Given the description of an element on the screen output the (x, y) to click on. 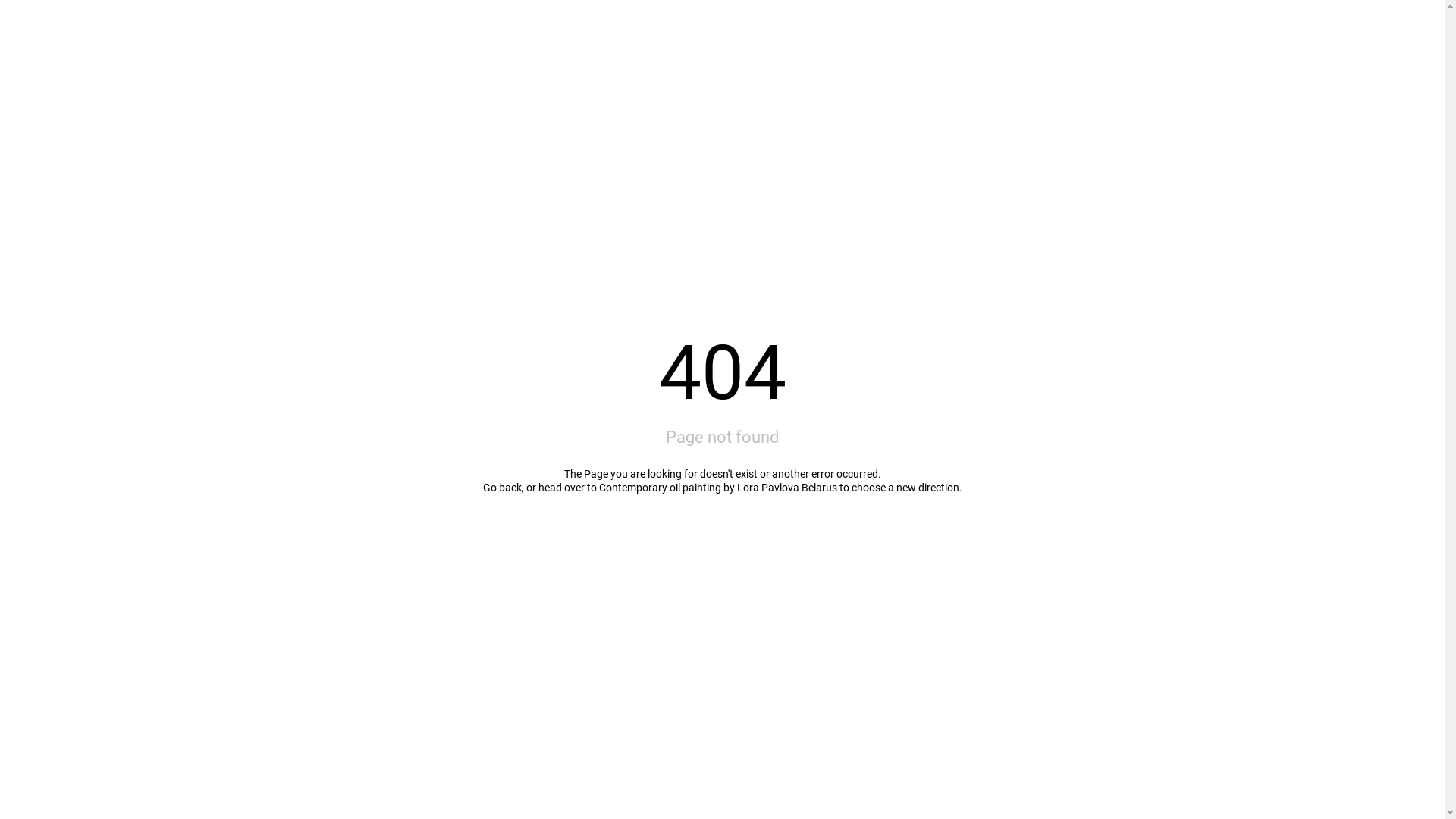
Contemporary oil painting by Lora Pavlova Belarus Element type: text (718, 487)
Go back Element type: text (501, 487)
